Given the description of an element on the screen output the (x, y) to click on. 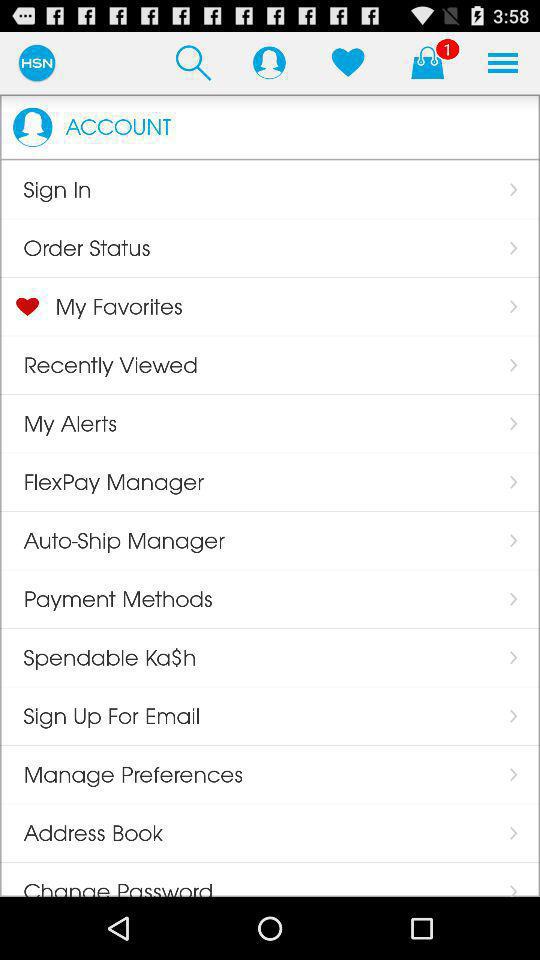
select the app below the sign in icon (75, 248)
